Given the description of an element on the screen output the (x, y) to click on. 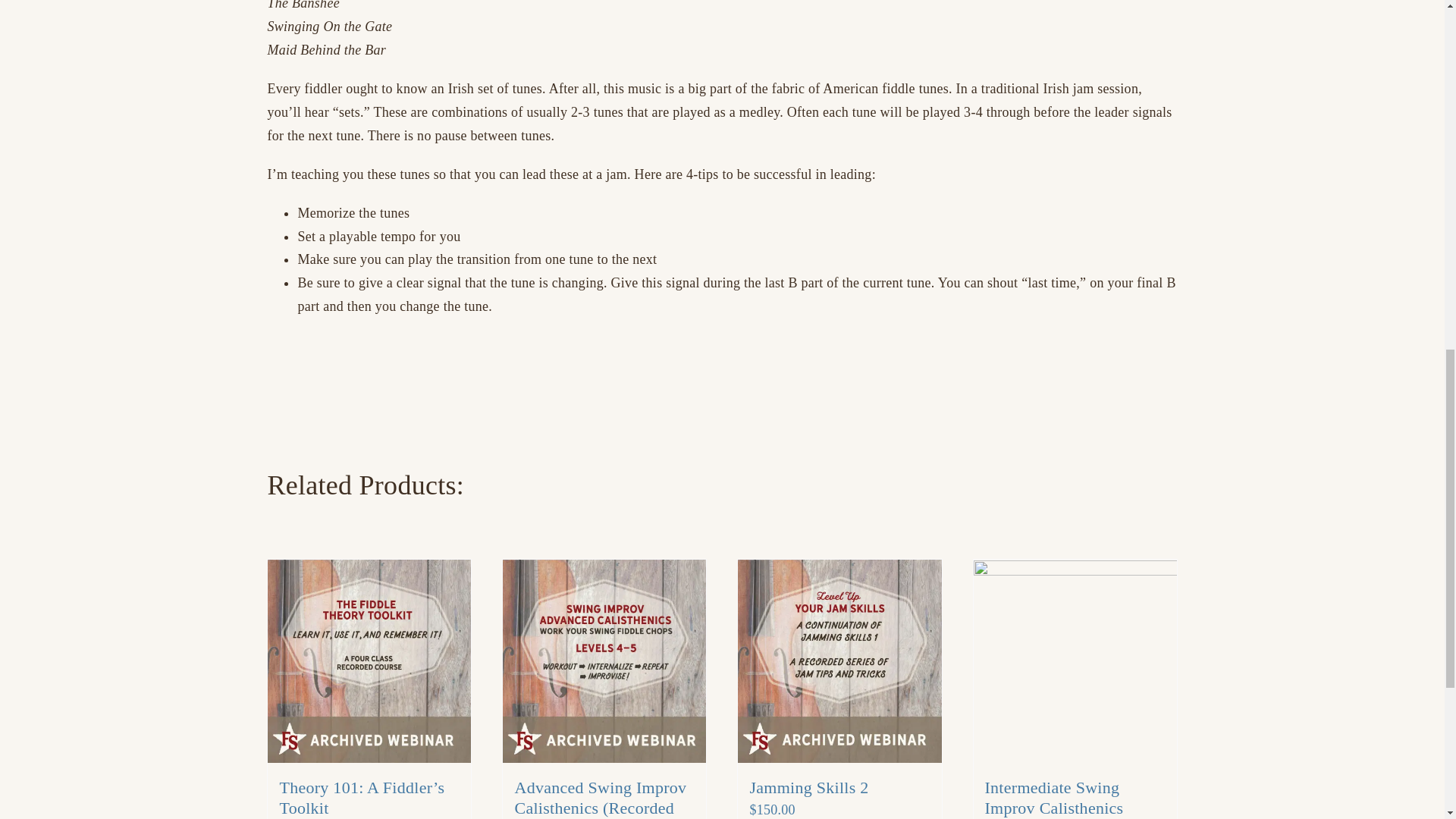
Jamming Skills 2 (808, 787)
